Given the description of an element on the screen output the (x, y) to click on. 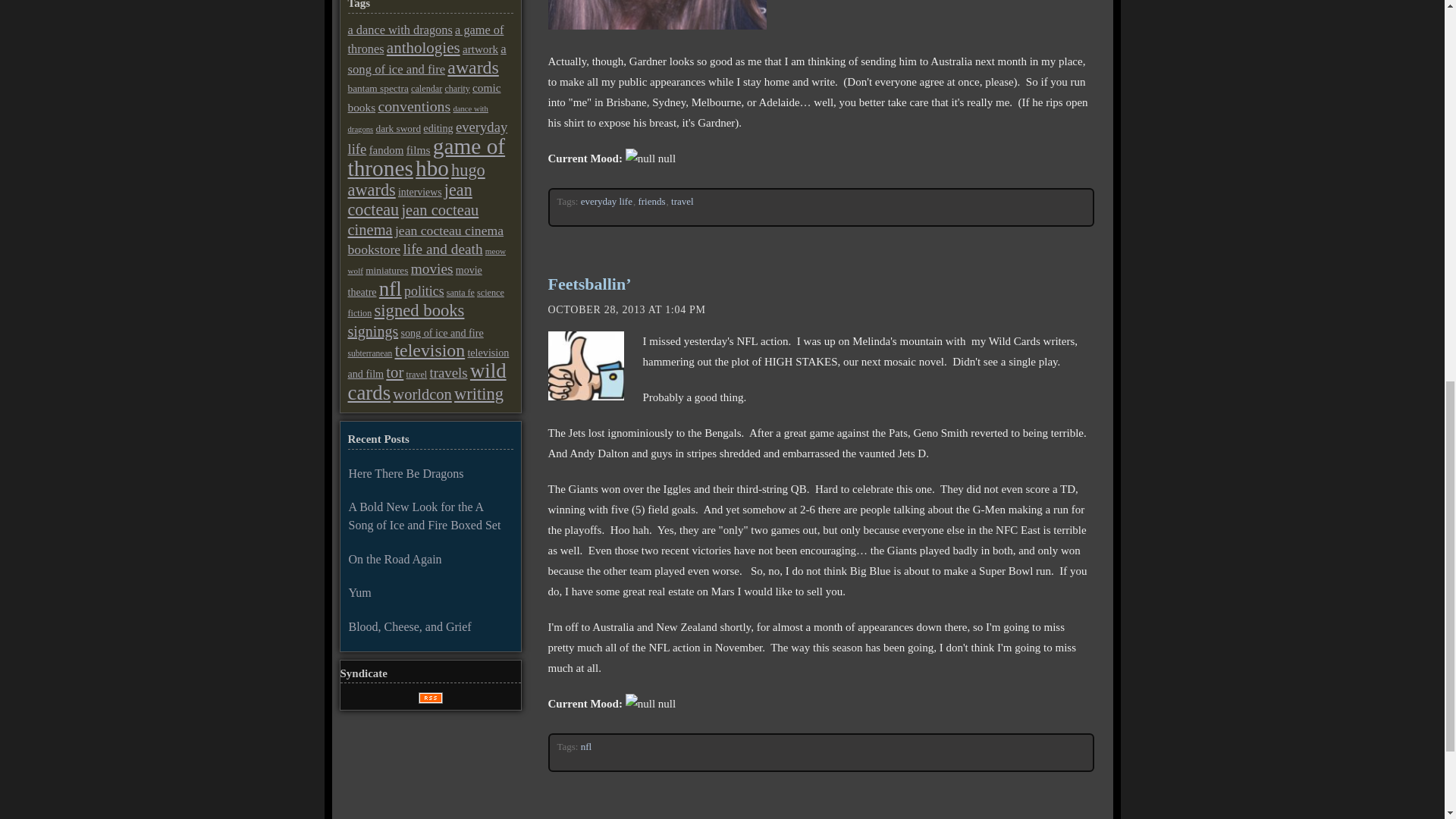
friends (651, 201)
everyday life (606, 201)
nfl (586, 746)
a game of thrones (425, 39)
travel (682, 201)
a song of ice and fire (426, 58)
artwork (480, 48)
misc122 (656, 14)
anthologies (423, 47)
a dance with dragons (399, 29)
